Given the description of an element on the screen output the (x, y) to click on. 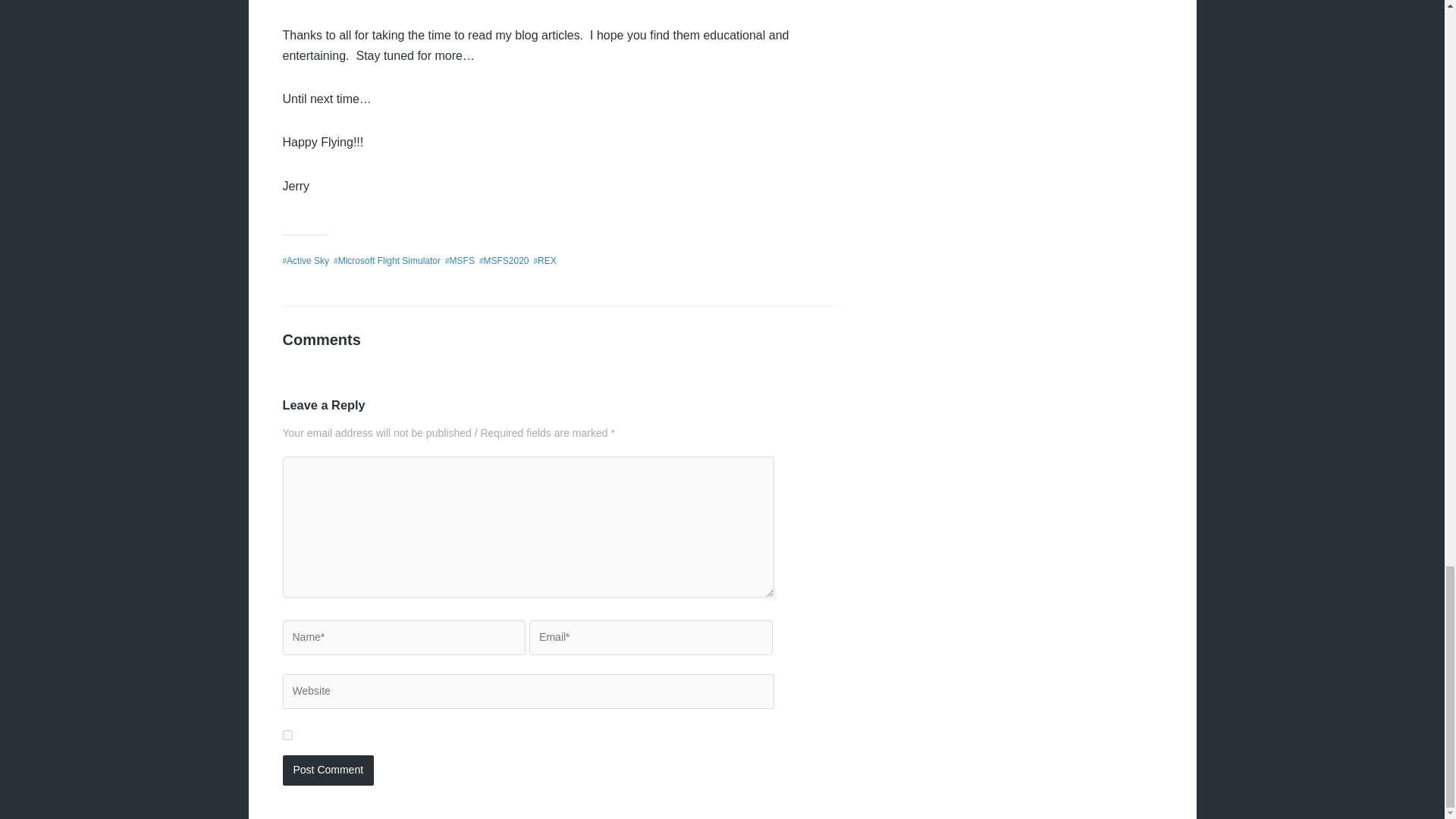
Active Sky (307, 260)
MSFS (461, 260)
Post Comment (328, 770)
yes (287, 735)
Microsoft Flight Simulator (389, 260)
MSFS2020 (505, 260)
